Given the description of an element on the screen output the (x, y) to click on. 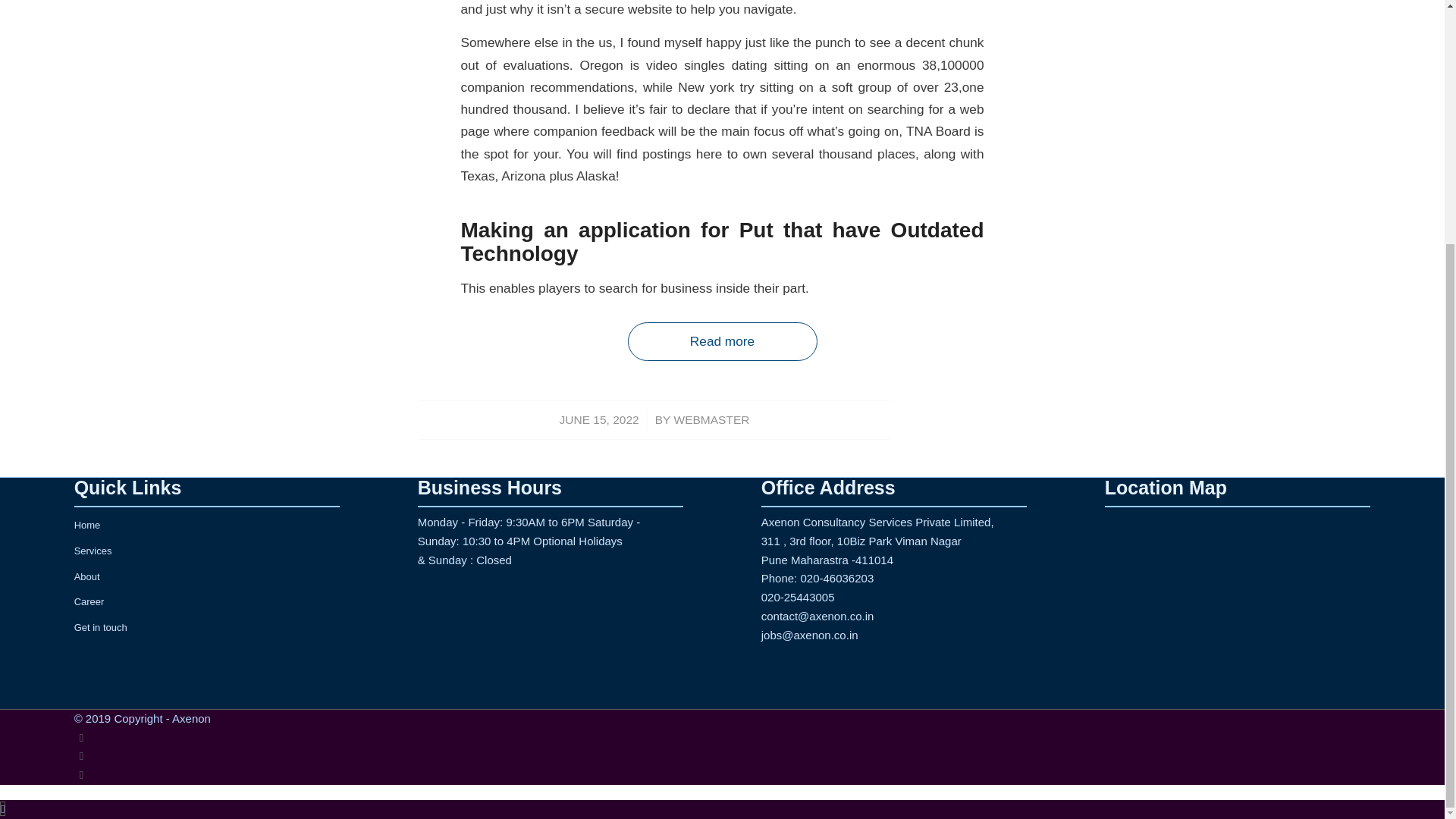
Posts by webmaster (710, 419)
Read more (721, 341)
Get in touch (206, 628)
Menu (94, 136)
Home (206, 525)
Services (206, 551)
Career (206, 602)
WEBMASTER (710, 419)
About (206, 577)
Get in touch (110, 15)
